Given the description of an element on the screen output the (x, y) to click on. 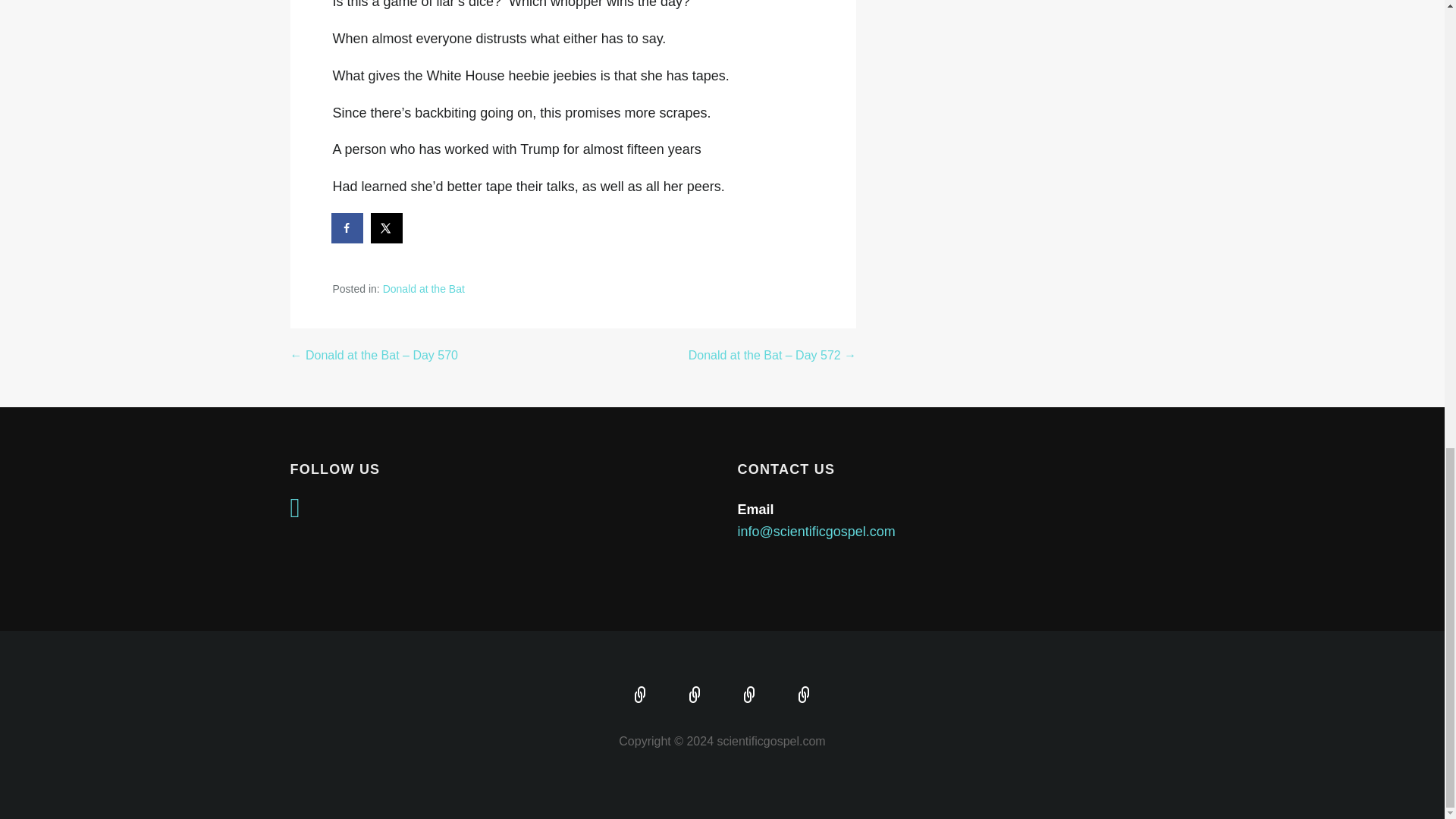
Share on X (387, 227)
About (694, 695)
Donald at the Bat (423, 288)
Blog (803, 695)
Music (748, 695)
Share on Facebook (346, 227)
Home (639, 695)
Visit scientificgospel.com on Facebook (294, 512)
